Given the description of an element on the screen output the (x, y) to click on. 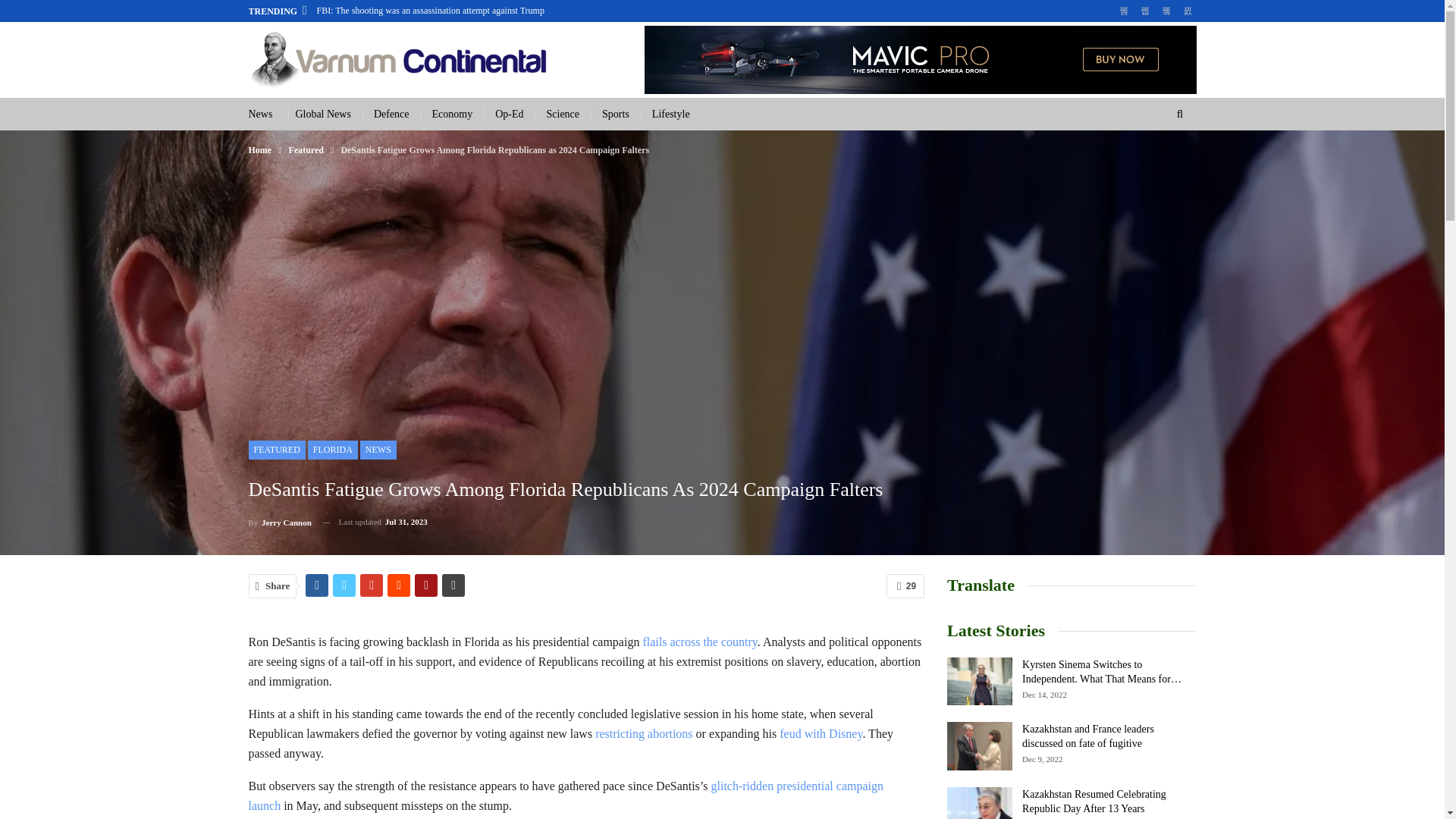
Kazakhstan and France leaders discussed on fate of fugitive (979, 745)
Global News (322, 113)
Browse Author Articles (279, 521)
FBI: The shooting was an assassination attempt against Trump (430, 9)
Kazakhstan Resumed Celebrating Republic Day After 13 Years (979, 803)
News (260, 113)
